Given the description of an element on the screen output the (x, y) to click on. 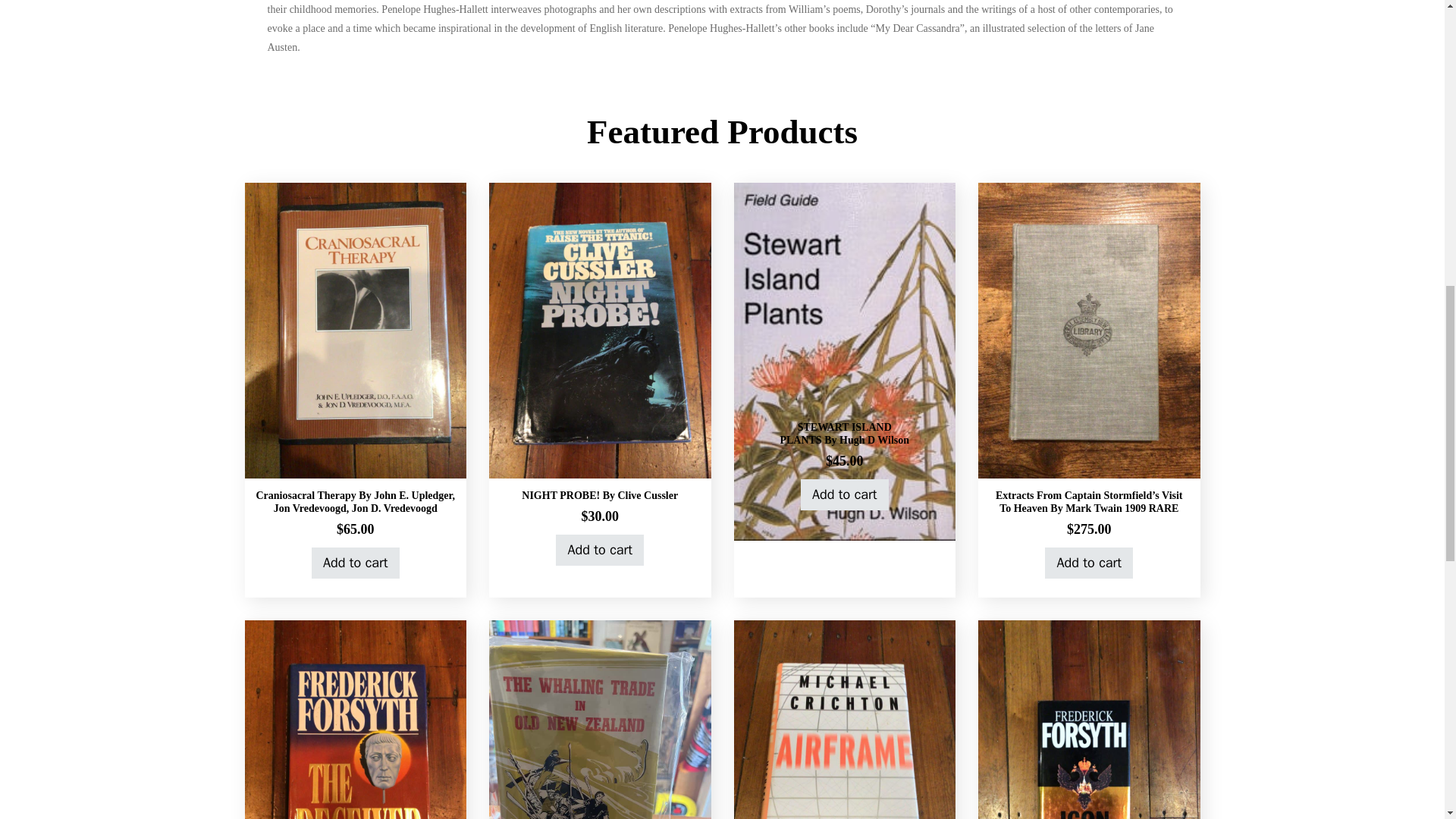
STEWART ISLAND PLANTS By Hugh D Wilson (843, 433)
Add to cart (354, 562)
Add to cart (1088, 562)
Add to cart (844, 494)
NIGHT PROBE! By Clive Cussler (599, 495)
Add to cart (599, 549)
